Given the description of an element on the screen output the (x, y) to click on. 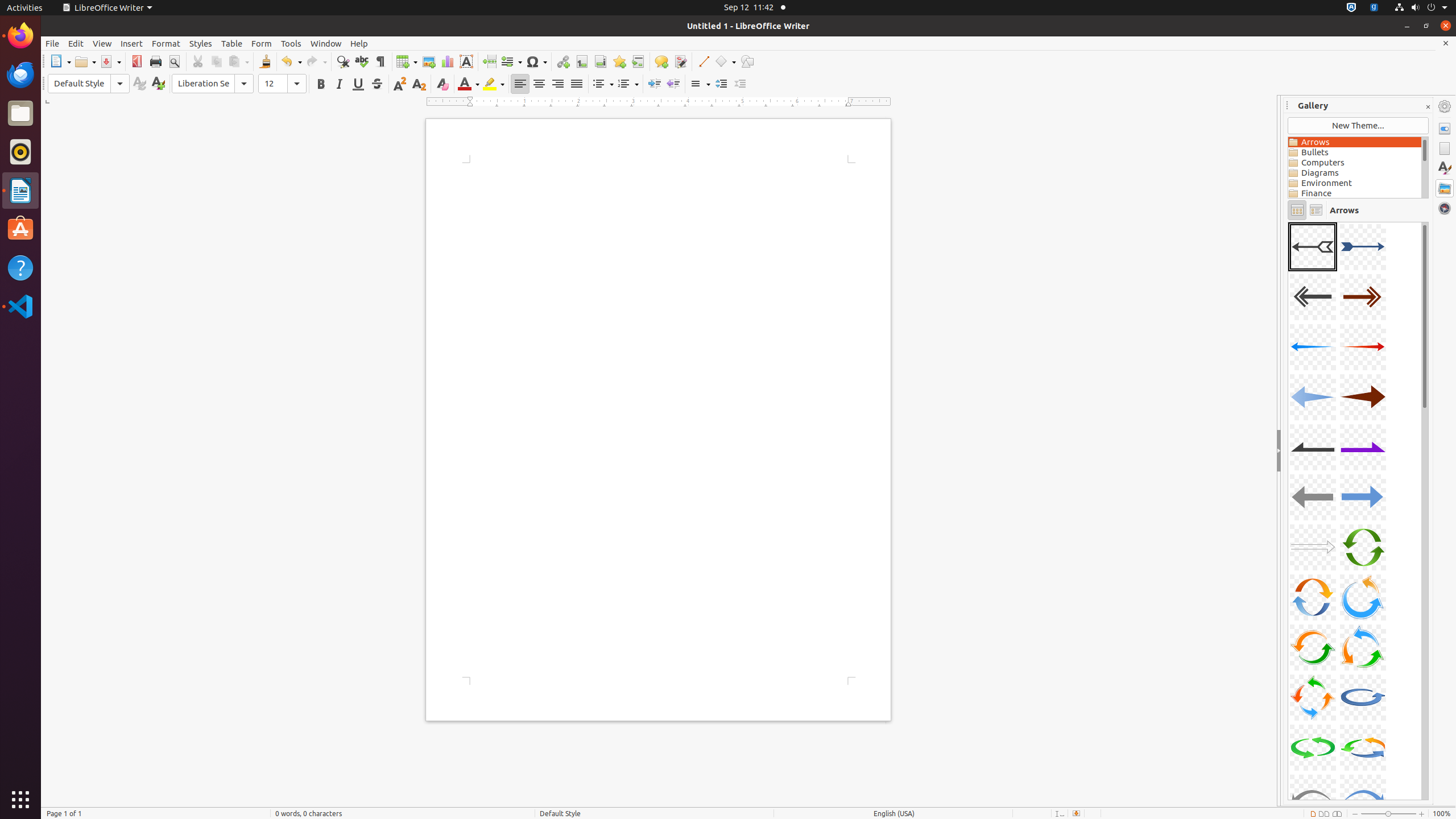
Cut Element type: push-button (197, 61)
A24-CurvedArrow-LightBlue-Right Element type: list-item (1288, 222)
A09-Arrow-Gray-Left Element type: list-item (1312, 446)
Gallery Element type: radio-button (1444, 188)
A21-CircleArrow-Green Element type: list-item (1312, 746)
